Given the description of an element on the screen output the (x, y) to click on. 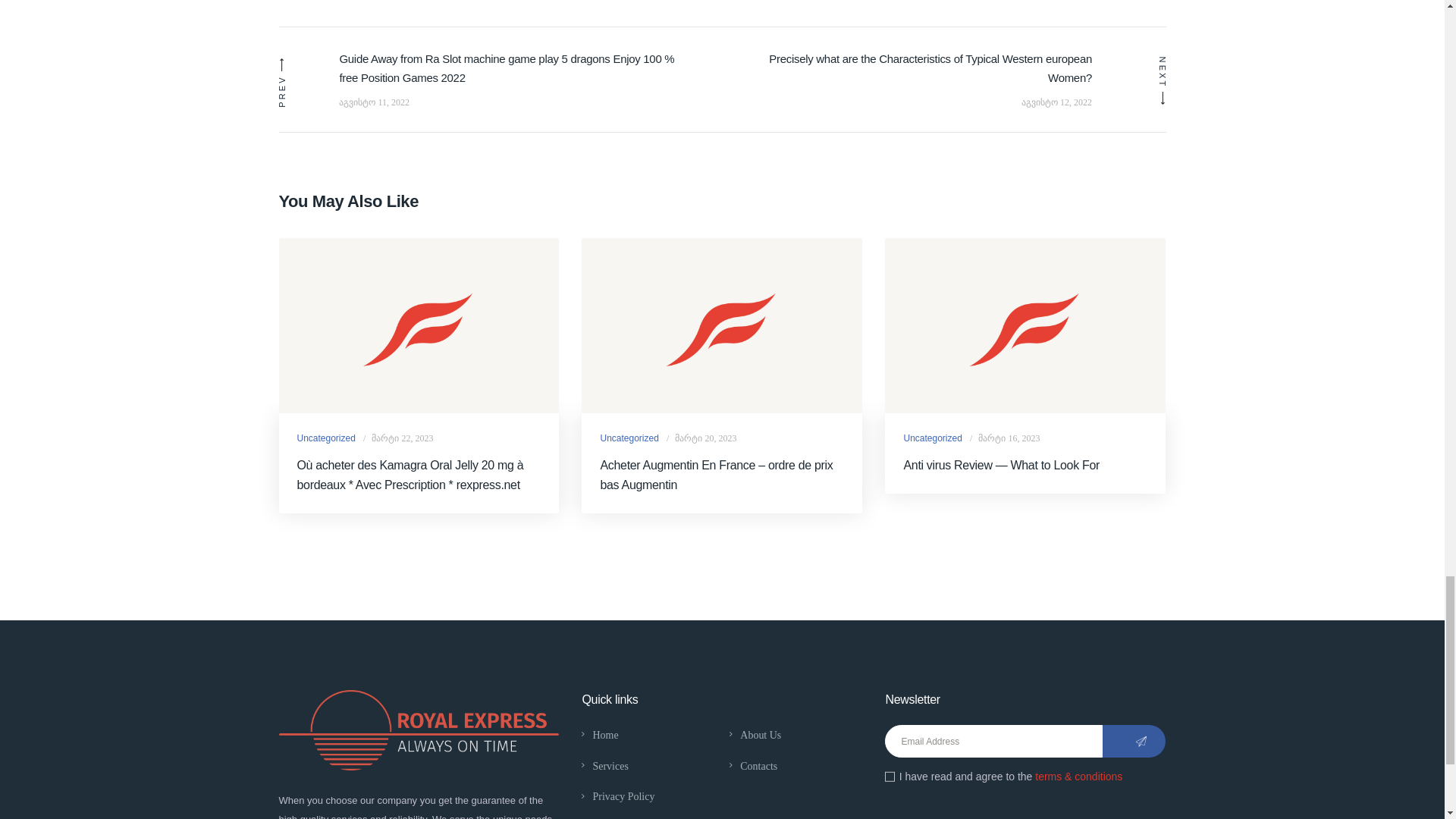
View all posts in Uncategorized (628, 438)
View all posts in Uncategorized (326, 438)
View all posts in Uncategorized (931, 438)
